Given the description of an element on the screen output the (x, y) to click on. 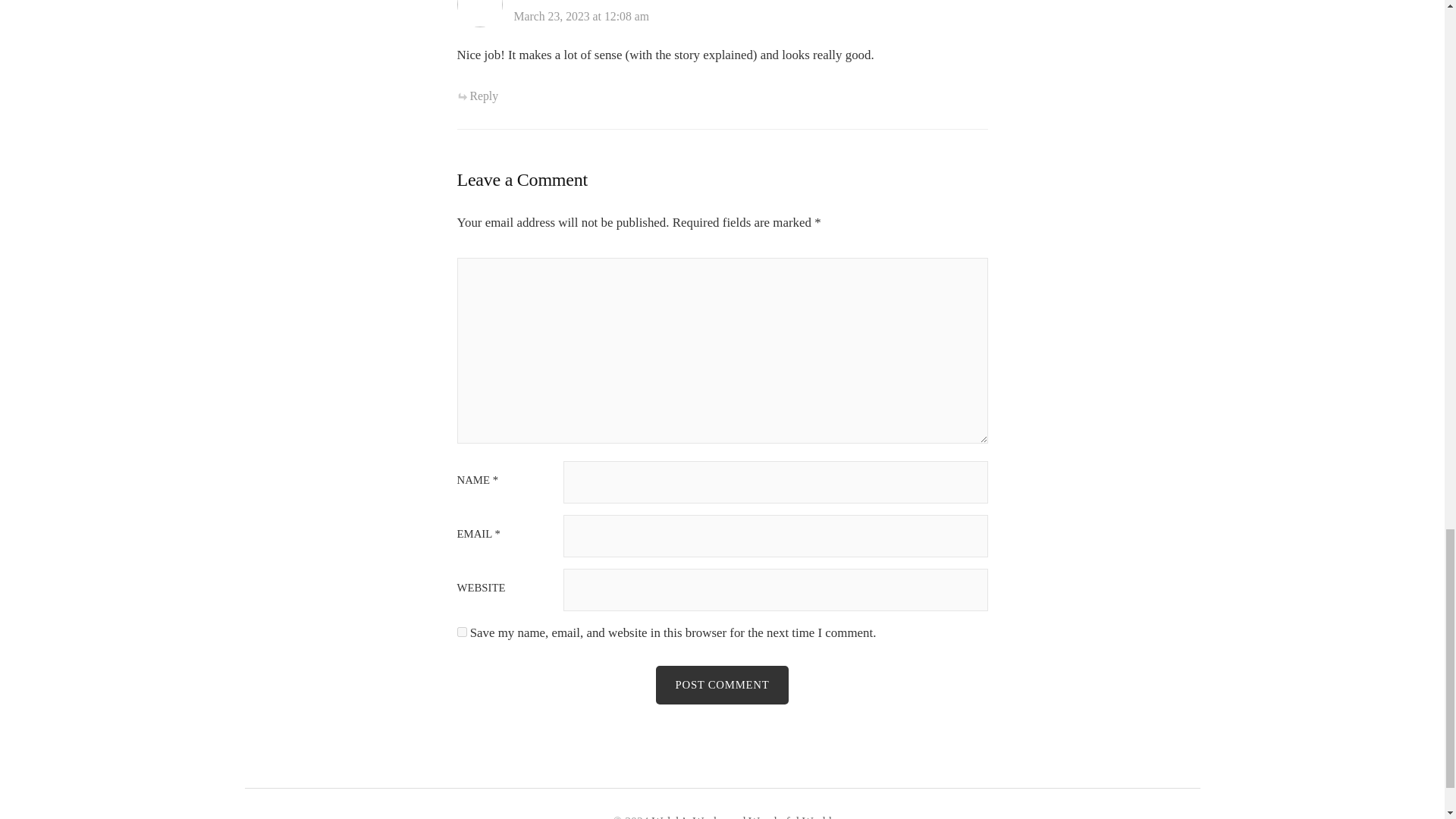
yes (461, 632)
March 23, 2023 at 12:08 am (581, 15)
Post Comment (721, 684)
Post Comment (721, 684)
Reply (477, 95)
